Given the description of an element on the screen output the (x, y) to click on. 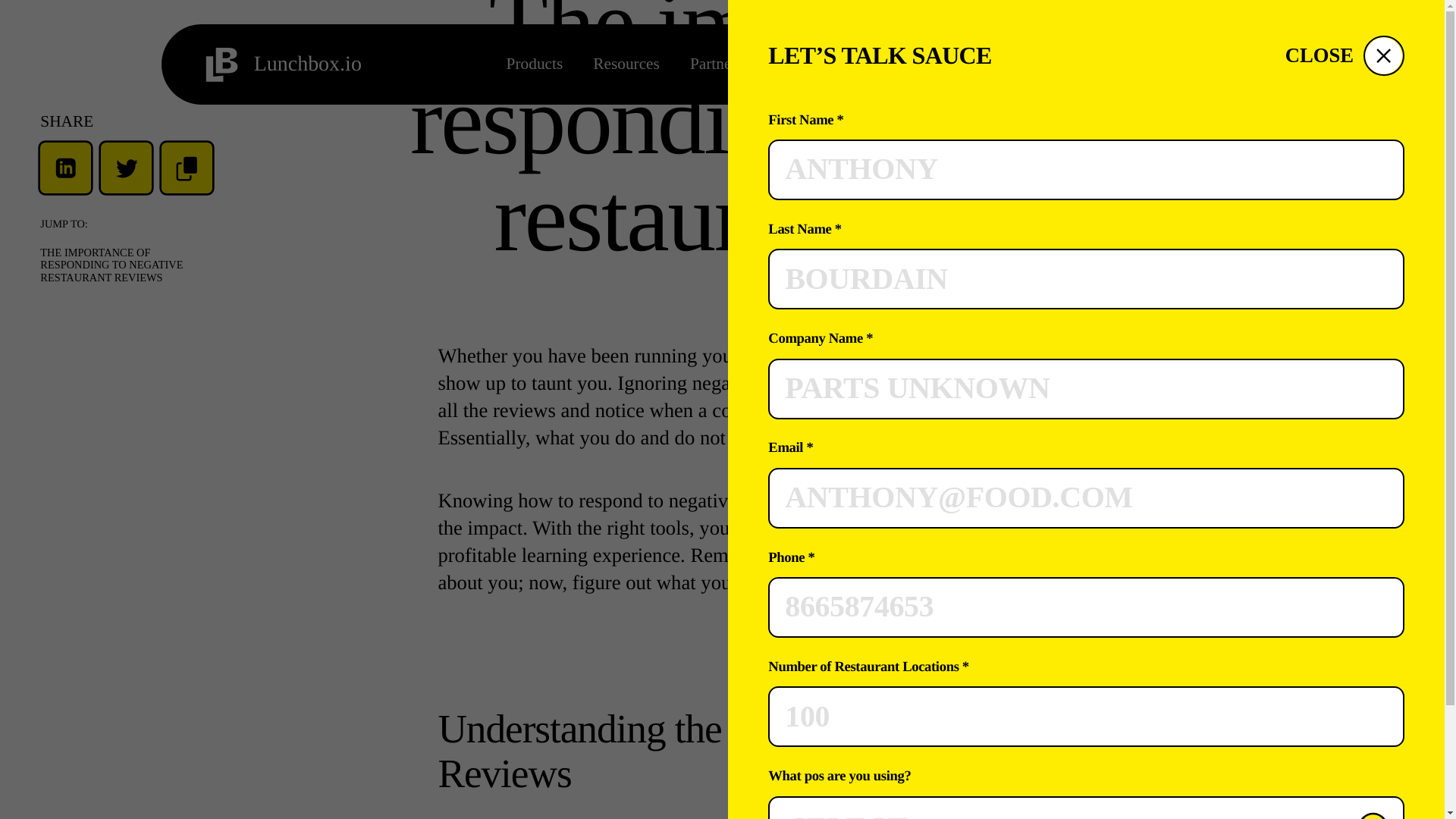
Copy to Clipboard! (186, 31)
